Given the description of an element on the screen output the (x, y) to click on. 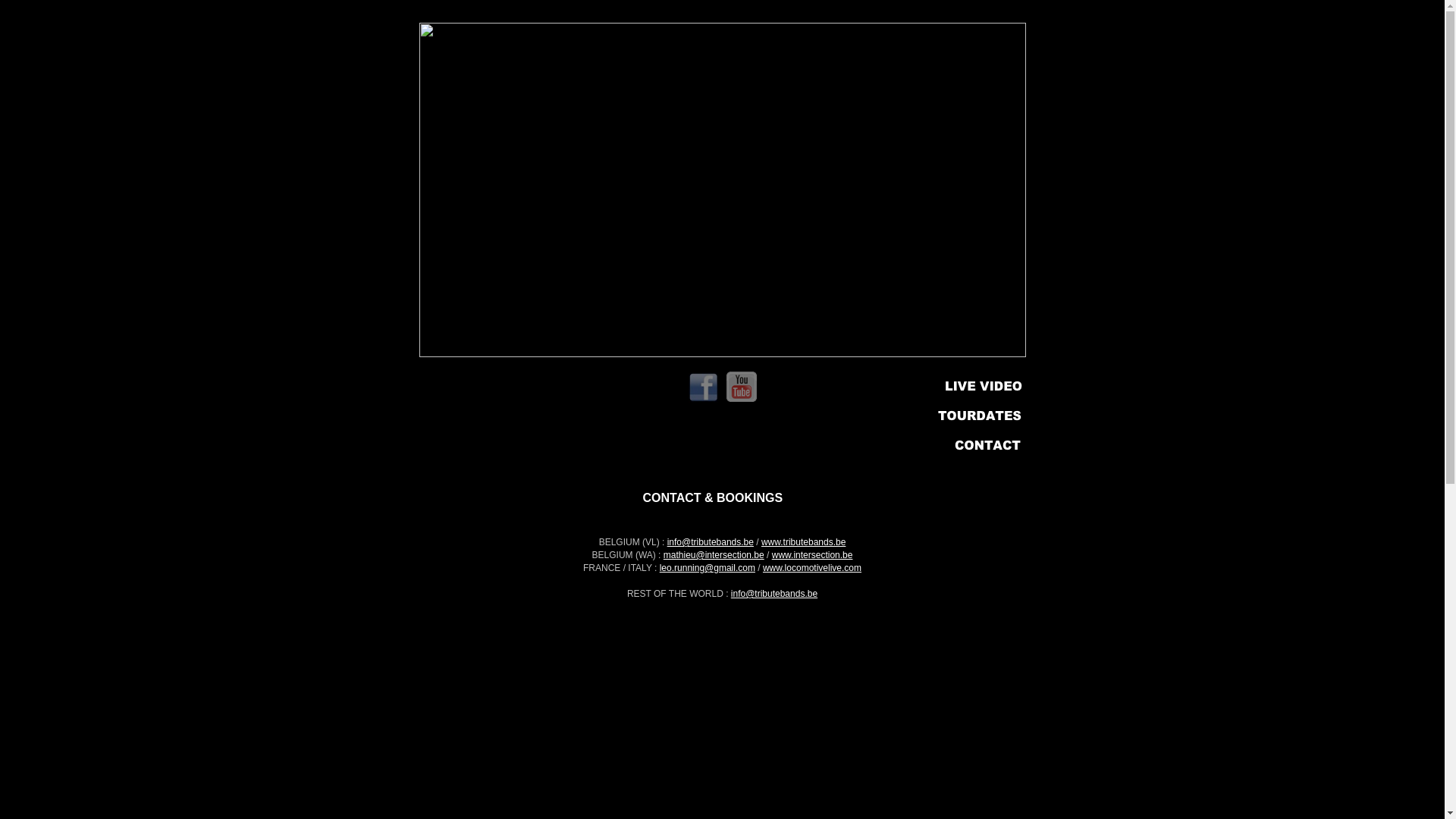
www.tributebands.be Element type: text (803, 541)
www.locomotivelive.com Element type: text (811, 567)
mathieu@intersection.be Element type: text (713, 554)
www.intersection.be Element type: text (812, 554)
info@tributebands.be Element type: text (774, 593)
leo.running@gmail.com Element type: text (707, 567)
http://youtube.com/tomadde Element type: hover (741, 397)
http://www.facebook.com/bullsonparadetribute Element type: hover (703, 398)
info@tributebands.be Element type: text (710, 541)
